Given the description of an element on the screen output the (x, y) to click on. 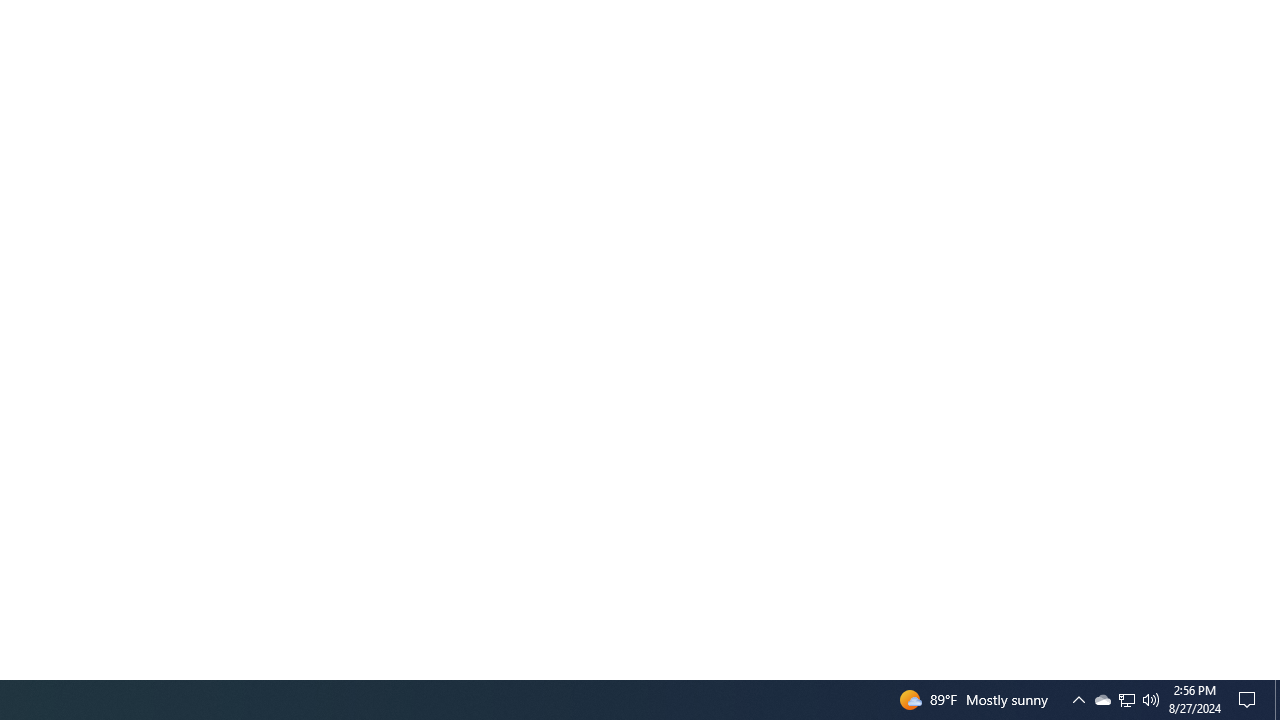
Notification Chevron (1078, 699)
Show desktop (1277, 699)
Action Center, No new notifications (1250, 699)
User Promoted Notification Area (1102, 699)
Q2790: 100% (1126, 699)
